Given the description of an element on the screen output the (x, y) to click on. 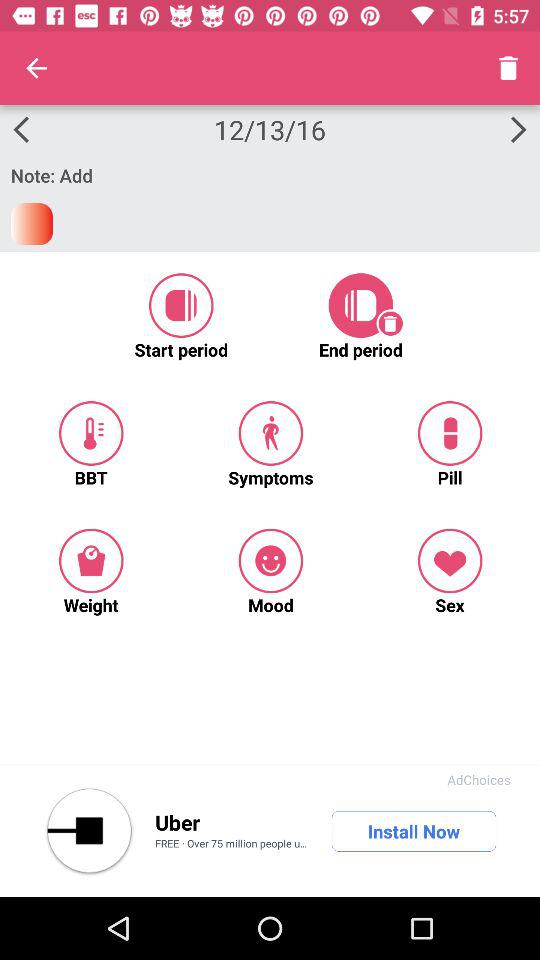
turn on the item to the left of uber (89, 831)
